Given the description of an element on the screen output the (x, y) to click on. 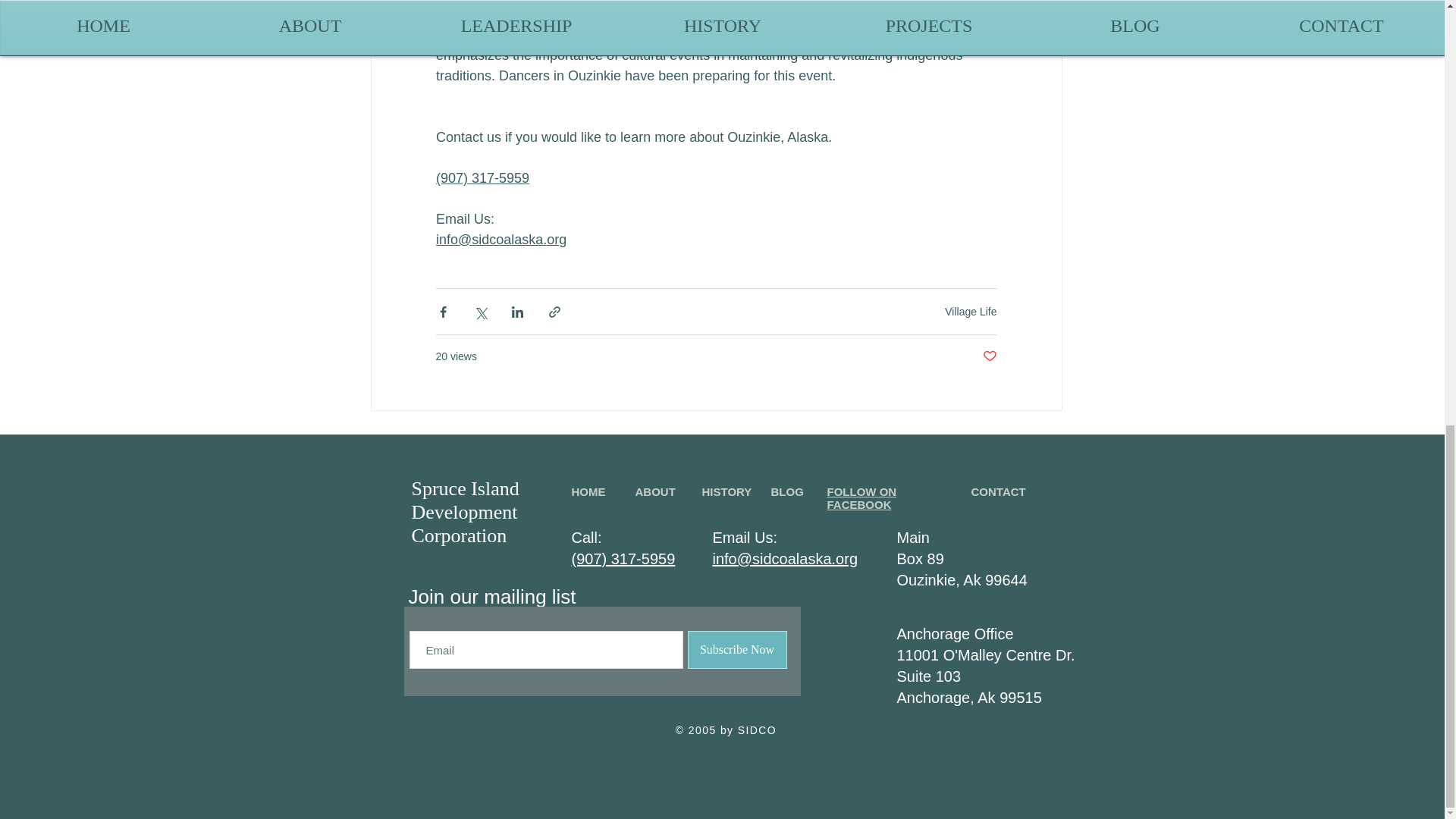
BLOG (786, 491)
Village Life (969, 310)
HISTORY (726, 491)
Post not marked as liked (989, 356)
Spruce Island Development Corporation (464, 512)
FOLLOW ON FACEBOOK (861, 498)
CONTACT (998, 491)
Subscribe Now (736, 649)
HOME (588, 491)
ABOUT (654, 491)
